Given the description of an element on the screen output the (x, y) to click on. 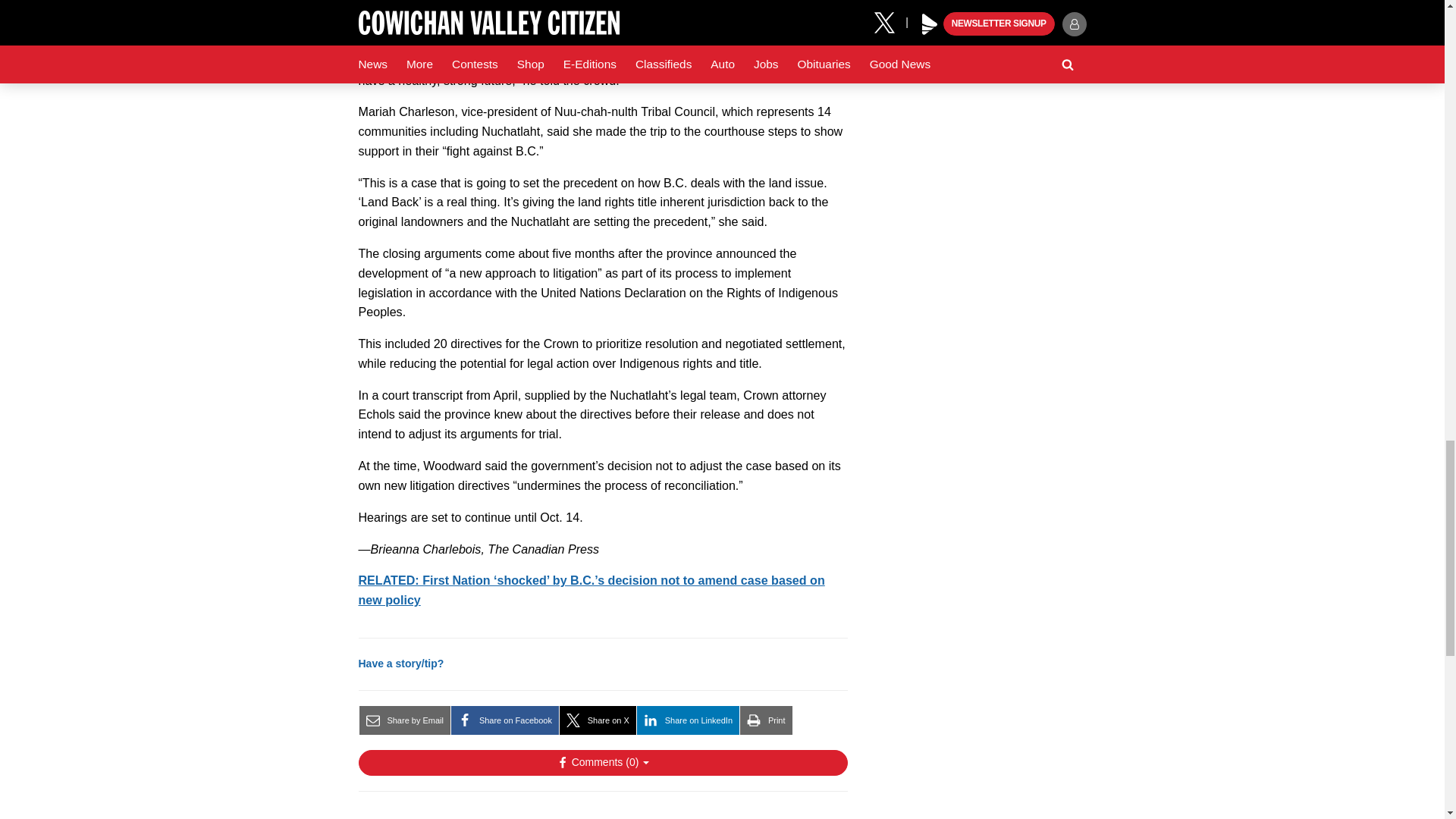
Show Comments (602, 762)
related story (591, 589)
